Given the description of an element on the screen output the (x, y) to click on. 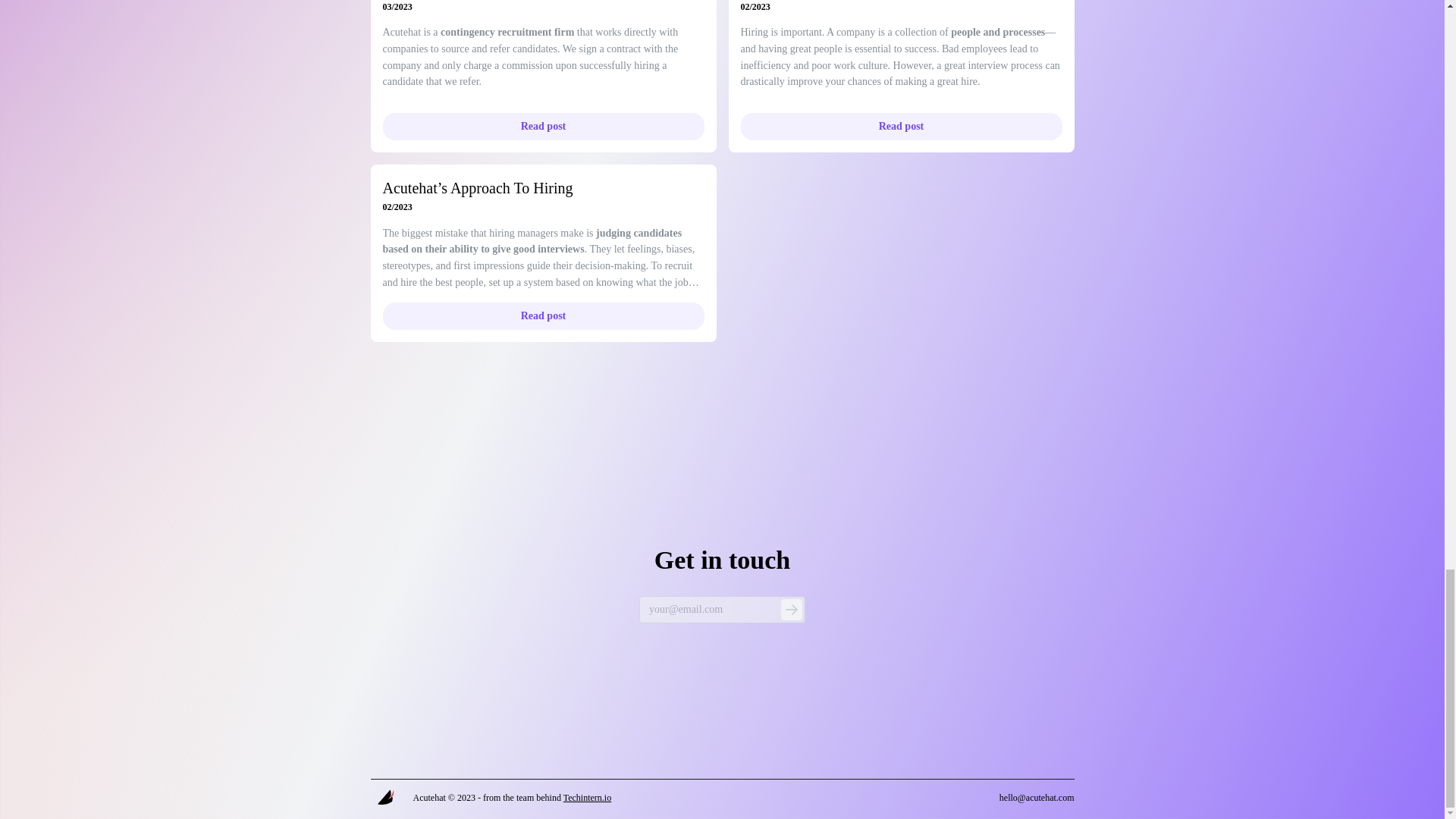
Read post (542, 126)
Techintern.io (587, 797)
Read post (900, 126)
Read post (542, 316)
